Given the description of an element on the screen output the (x, y) to click on. 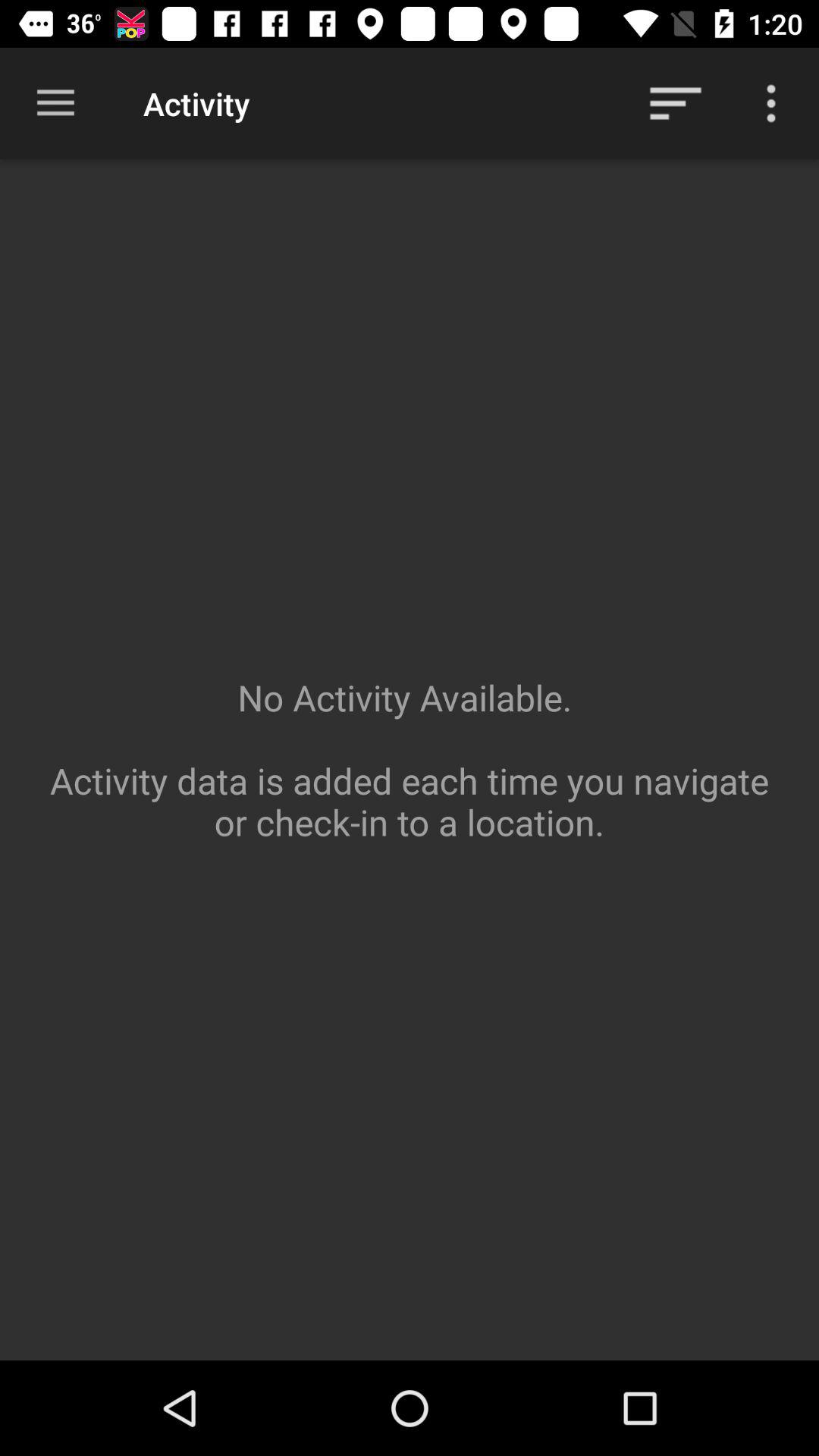
turn off the icon to the right of the activity item (675, 103)
